Given the description of an element on the screen output the (x, y) to click on. 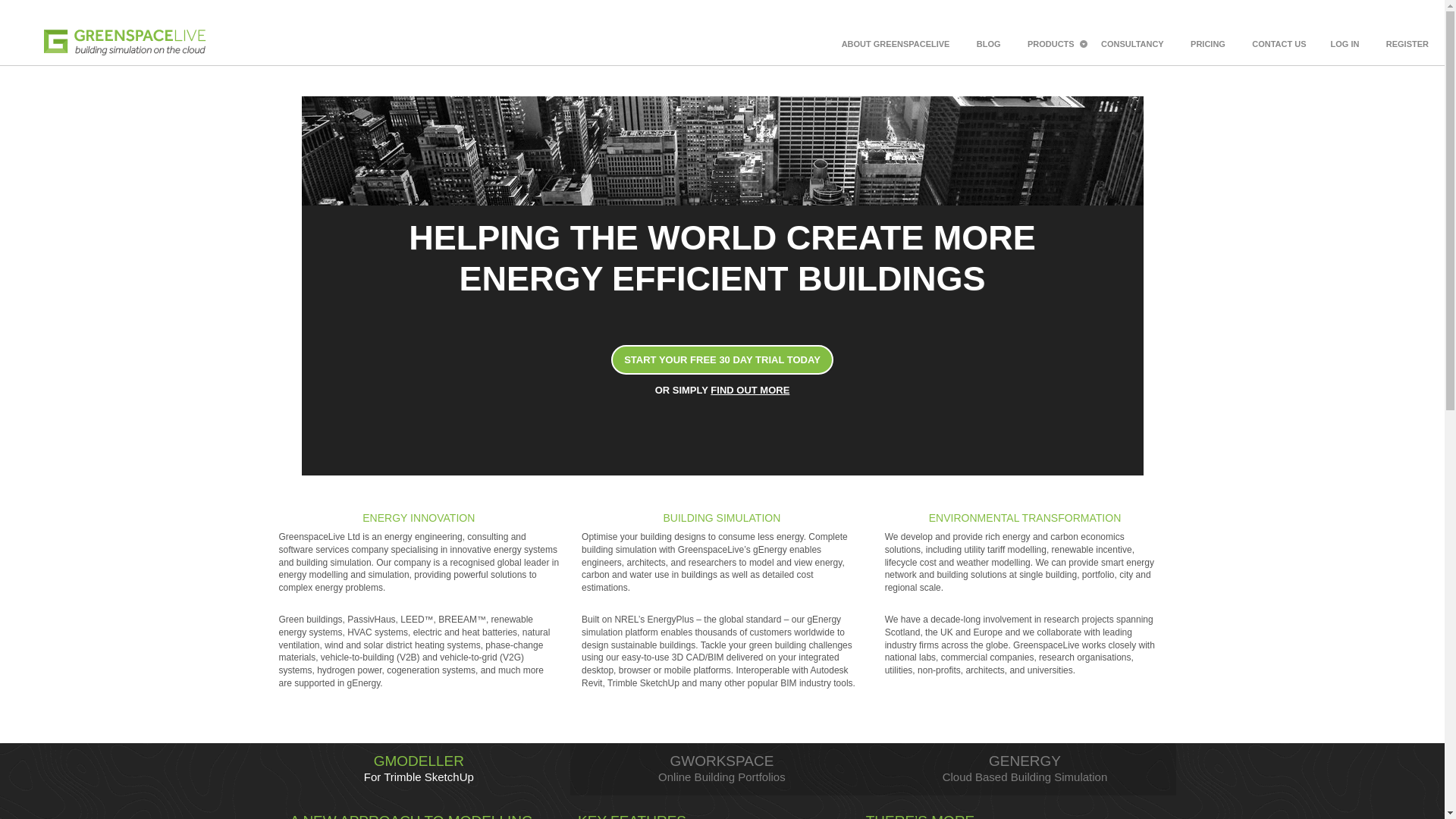
START YOUR FREE 30 DAY TRIAL TODAY (721, 359)
PRODUCTS (1050, 43)
ABOUT GREENSPACELIVE (896, 43)
CONSULTANCY (1132, 43)
PRICING (1207, 43)
REGISTER (1024, 768)
LOG IN (1406, 43)
FIND OUT MORE (721, 768)
BLOG (1345, 43)
CONTACT US (749, 389)
